Given the description of an element on the screen output the (x, y) to click on. 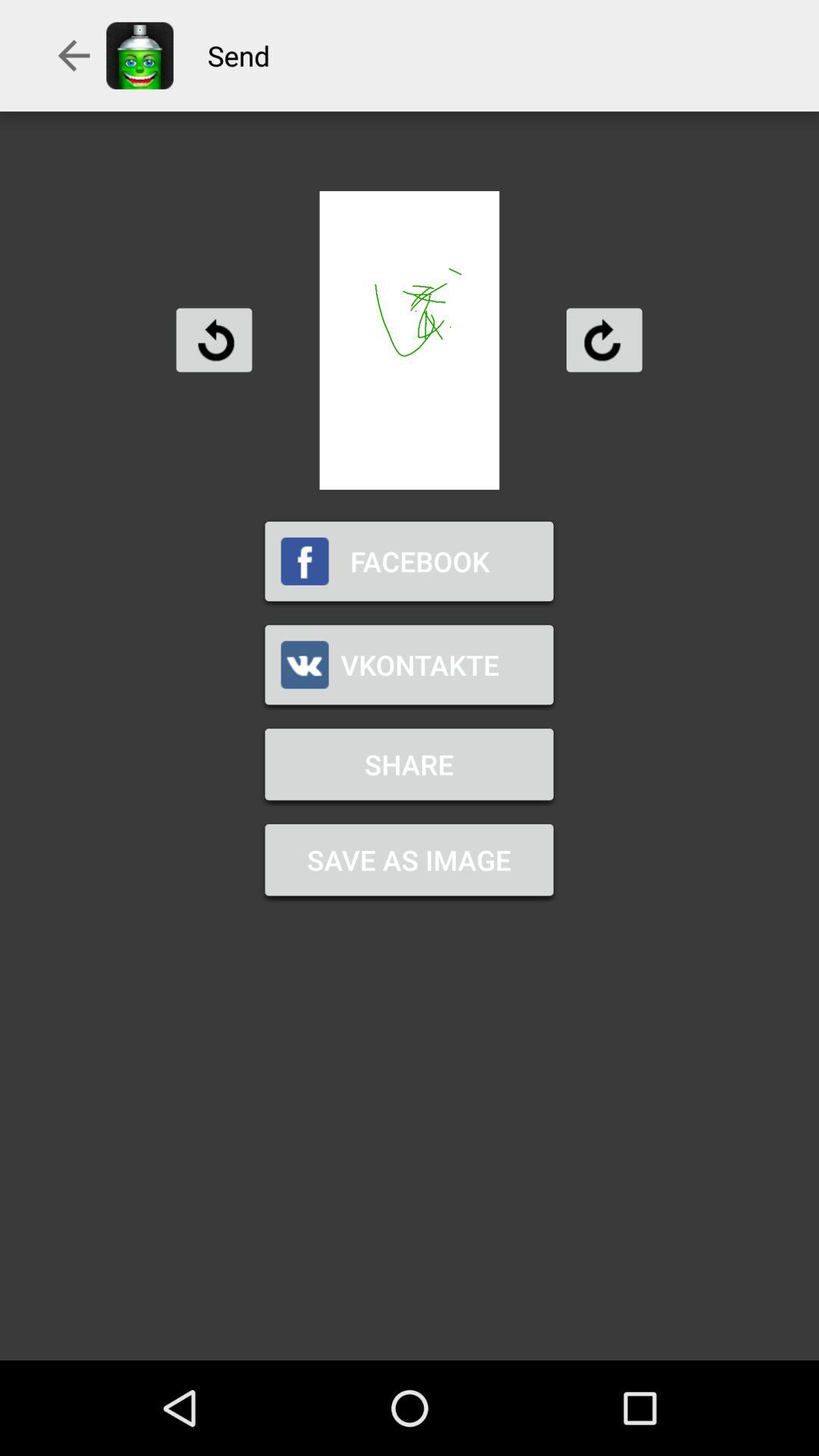
undo last move (213, 339)
